Given the description of an element on the screen output the (x, y) to click on. 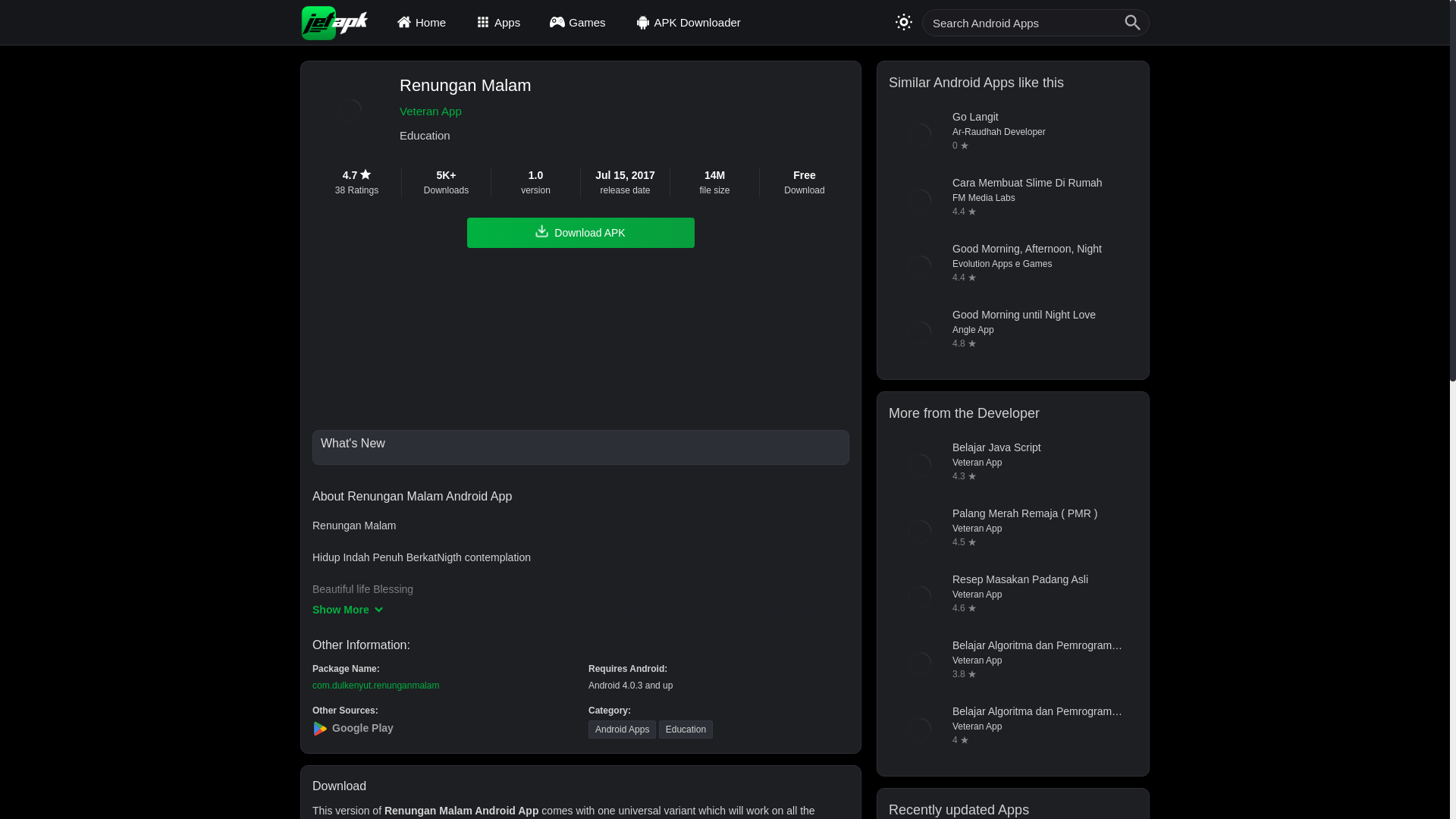
Good Morning until Night Love 9.01.0.0 Android APK (1012, 332)
Download APK (580, 232)
Games (579, 22)
Good Morning, Afternoon, Night 1.29 Android APK (1012, 266)
Belajar Algoritma dan Pemrograman Pascal 1.0 Android APK (1012, 663)
Belajar Java Script 1.0 Android APK (1012, 465)
Apps (499, 22)
Belajar Algoritma dan Pemrograman PHP 1.0 Android APK (1012, 729)
Resep Masakan Padang Asli 1.0 Android APK (1012, 597)
Go Langit 3.0.0 Android APK (1012, 135)
Cara Membuat Slime Di Rumah 1.0 Android APK (1012, 200)
Education (464, 135)
Education (686, 729)
Veteran App (464, 111)
1.0 (535, 175)
